Given the description of an element on the screen output the (x, y) to click on. 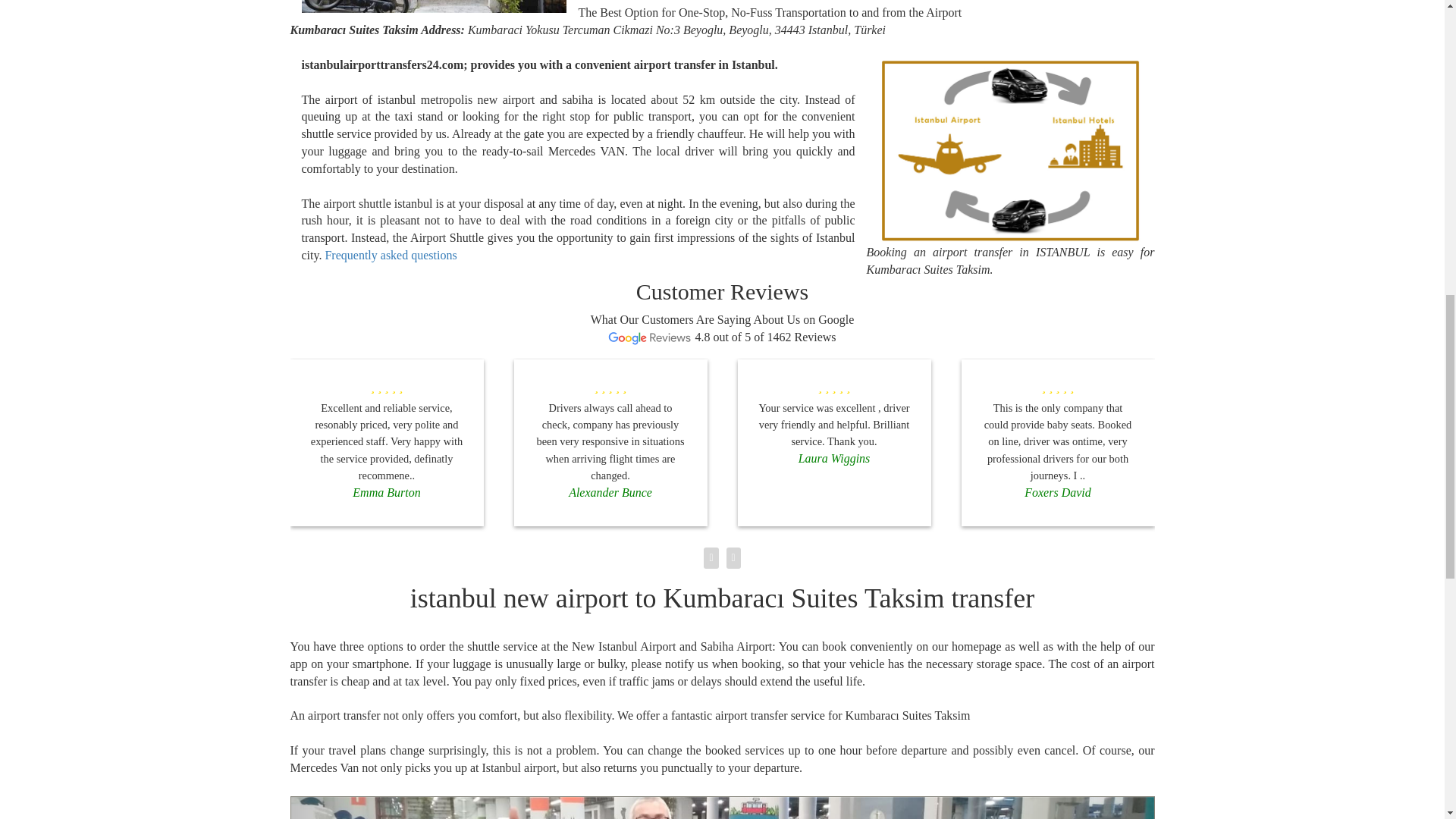
Frequently asked questions (390, 254)
Previous (355, 807)
Next (1089, 807)
